Given the description of an element on the screen output the (x, y) to click on. 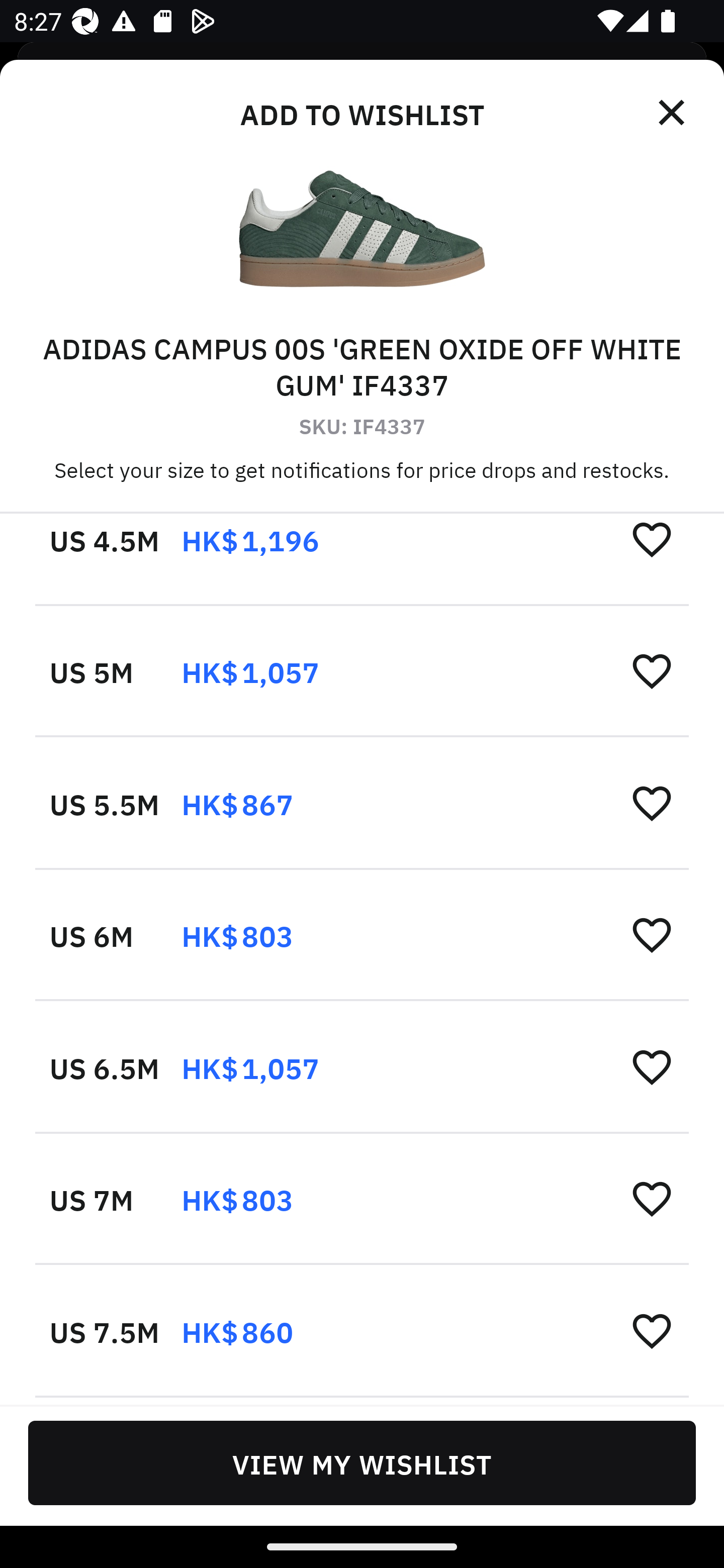
 (672, 112)
󰋕 (651, 538)
󰋕 (651, 670)
󰋕 (651, 802)
󰋕 (651, 934)
󰋕 (651, 1066)
󰋕 (651, 1198)
󰋕 (651, 1330)
VIEW MY WISHLIST (361, 1462)
